Given the description of an element on the screen output the (x, y) to click on. 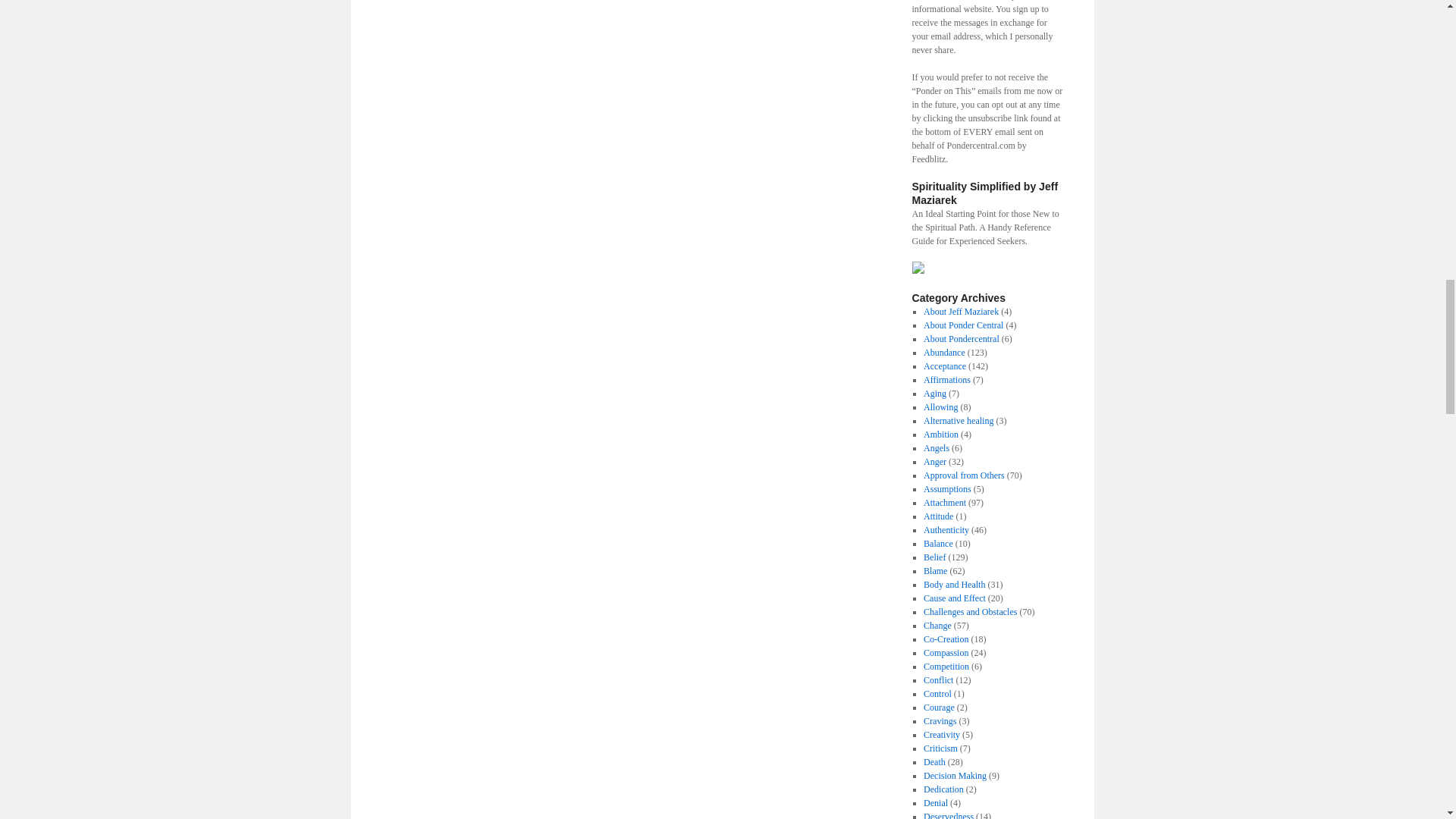
Allowing (940, 407)
Aging (934, 393)
Abundance (944, 352)
Alternative healing (957, 420)
Acceptance (944, 366)
Affirmations (947, 379)
About Jeff Maziarek (960, 311)
About Ponder Central (963, 325)
About Pondercentral (960, 338)
